Given the description of an element on the screen output the (x, y) to click on. 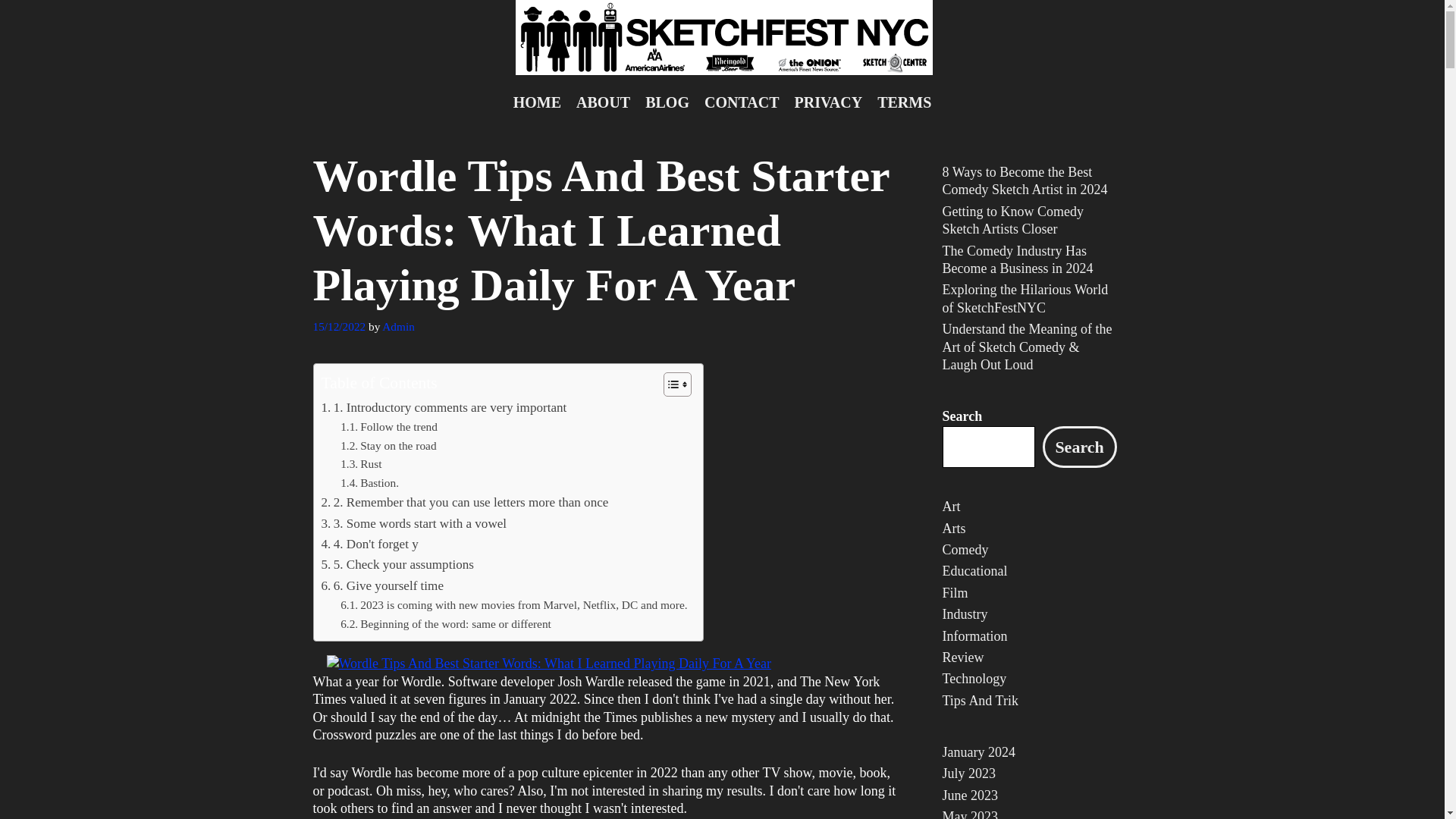
 Bastion. (369, 483)
05:24 (339, 326)
TERMS (904, 102)
 Rust (360, 464)
Bastion. (369, 483)
ABOUT (603, 102)
Stay on the road (387, 445)
 Follow the trend (389, 426)
3. Some words start with a vowel (413, 523)
View all posts by Admin (397, 326)
 Stay on the road (387, 445)
SketchFestNYC (724, 37)
Rust (360, 464)
PRIVACY (828, 102)
4. Don't forget y (370, 543)
